Given the description of an element on the screen output the (x, y) to click on. 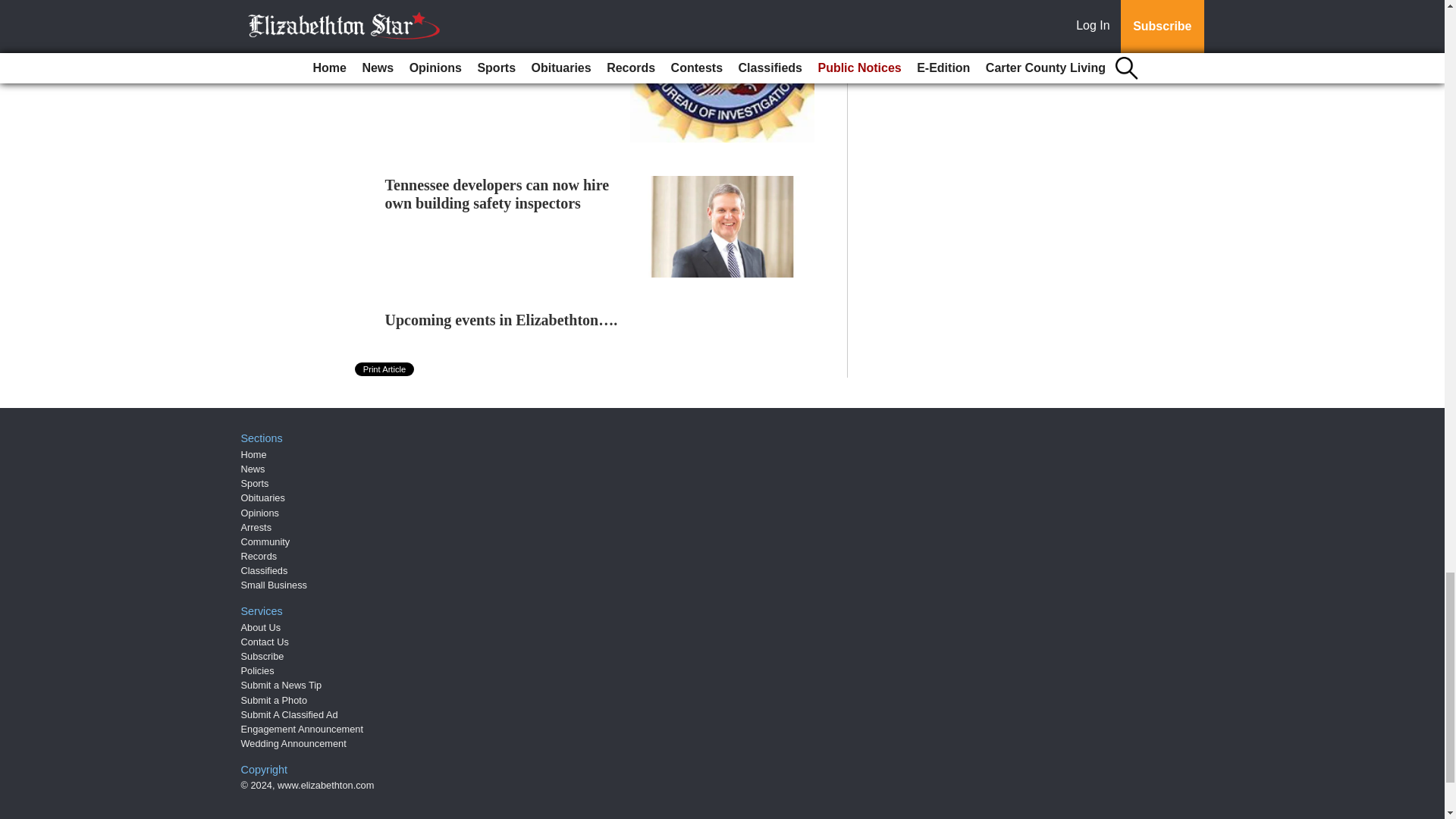
Home (253, 454)
Sports (255, 482)
News (252, 469)
Print Article (384, 368)
